Given the description of an element on the screen output the (x, y) to click on. 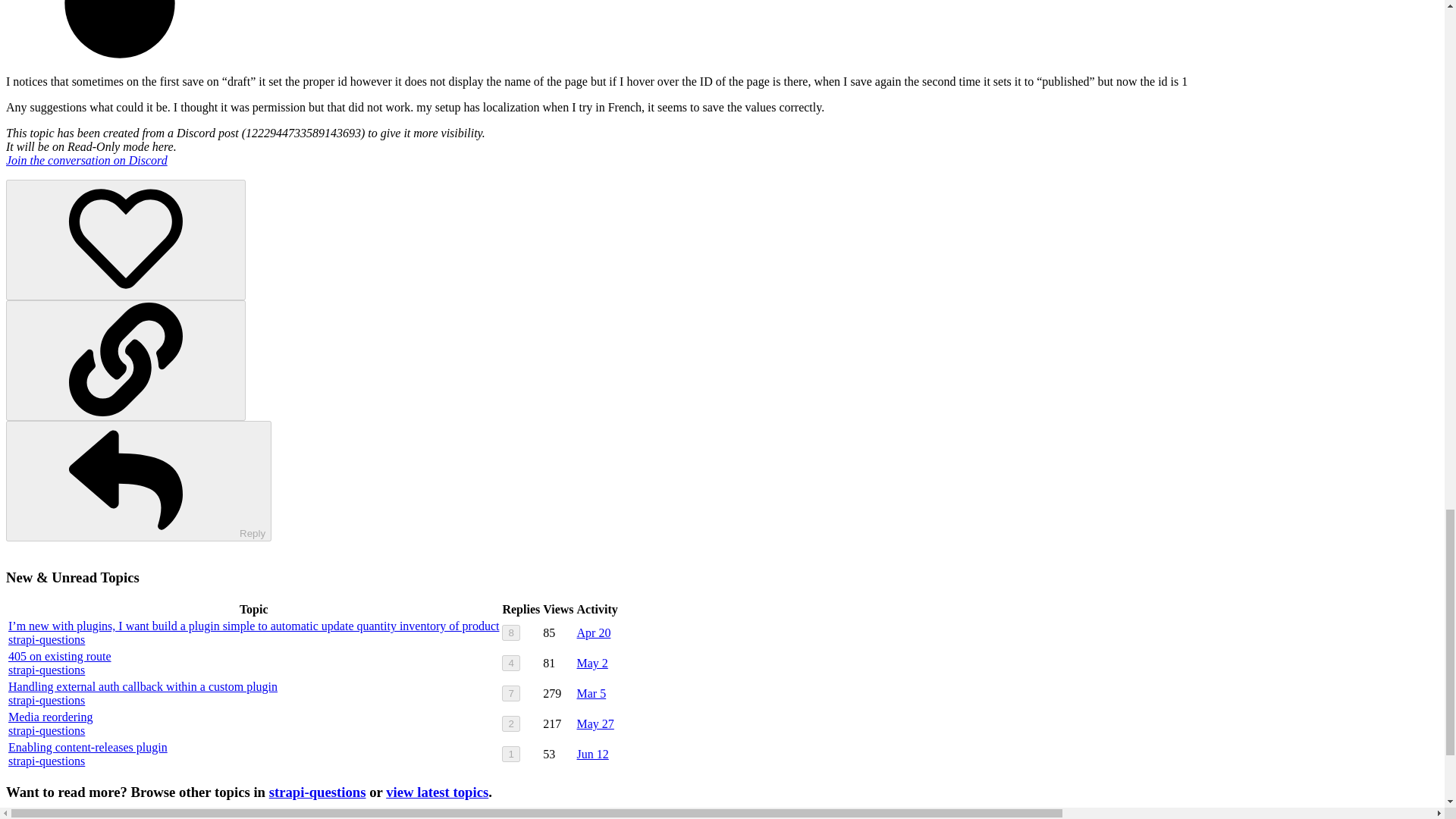
Handling external auth callback within a custom plugin (143, 686)
Reply (137, 480)
Join the conversation on Discord (86, 160)
strapi-questions (46, 669)
Media reordering (50, 716)
4 (510, 662)
Post is unread (721, 31)
strapi-questions (46, 639)
Mar 5 (591, 693)
405 on existing route (60, 656)
Apr 20 (593, 632)
8 (510, 632)
like this post (125, 239)
strapi-questions (46, 699)
copy a link to this post to clipboard (125, 360)
